Given the description of an element on the screen output the (x, y) to click on. 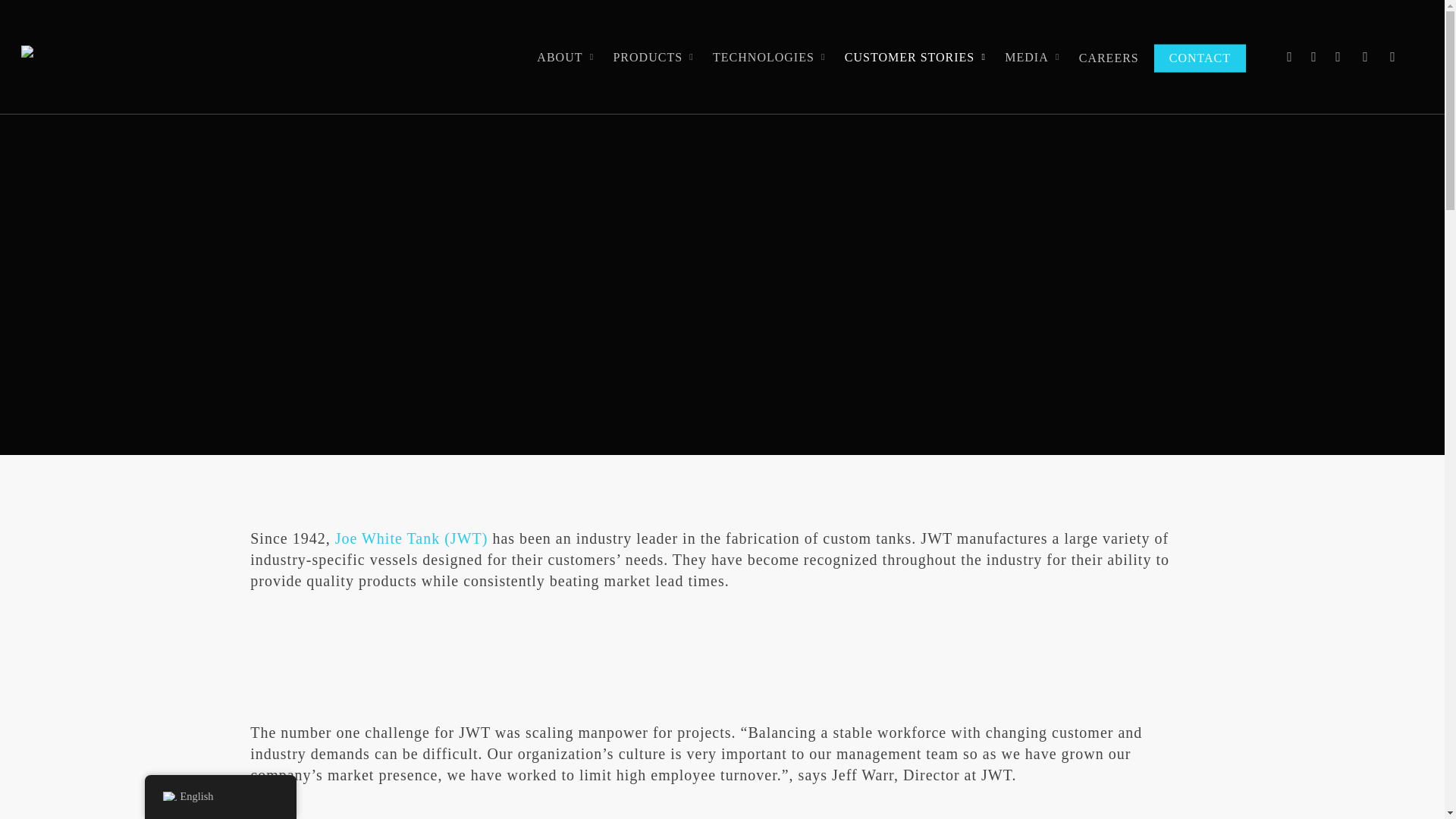
PRODUCTS (654, 56)
English (168, 795)
CUSTOMER STORIES (917, 56)
MEDIA (1033, 56)
ABOUT (567, 56)
TECHNOLOGIES (770, 56)
